Given the description of an element on the screen output the (x, y) to click on. 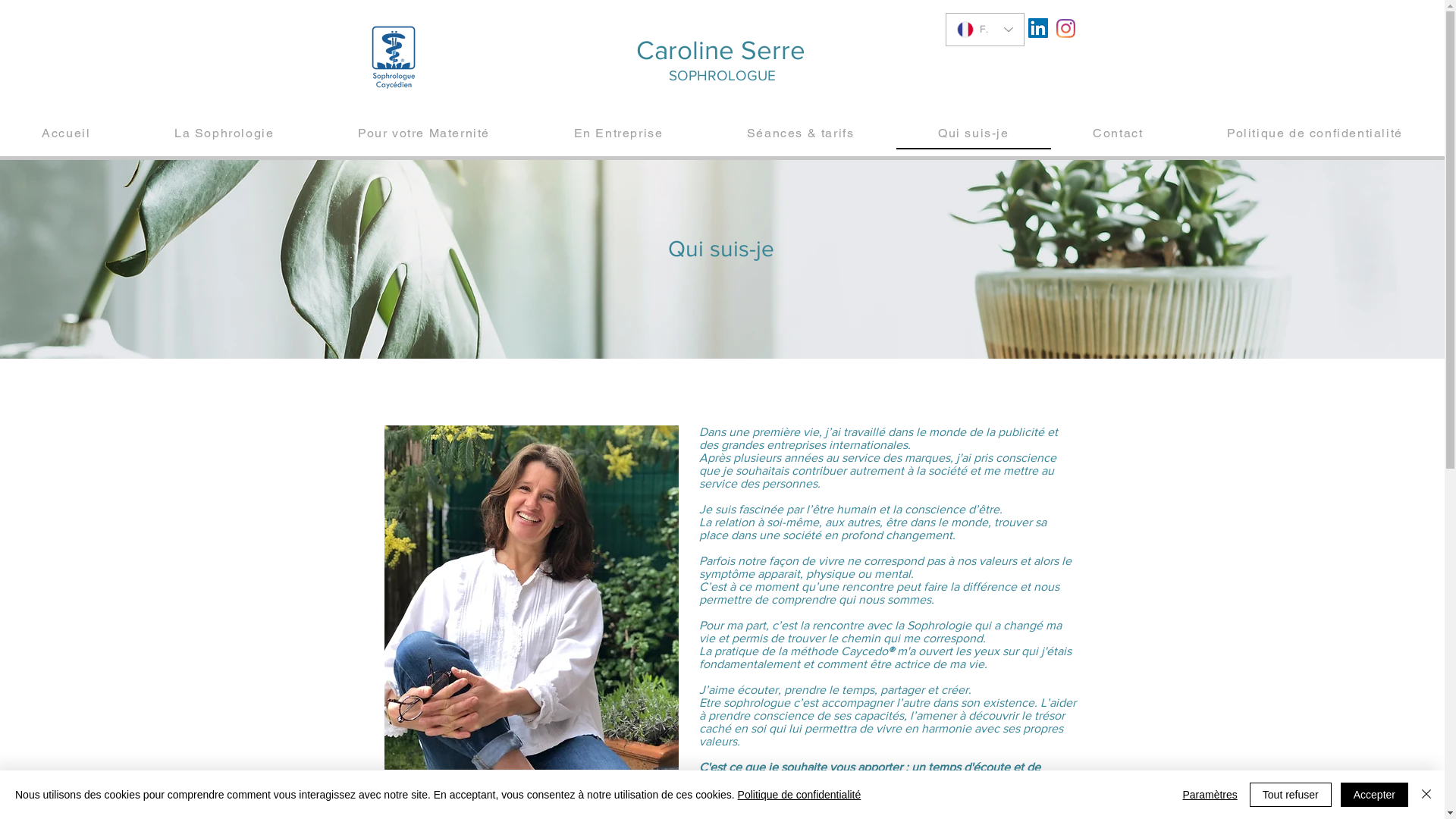
La Sophrologie Element type: text (224, 133)
Tout refuser Element type: text (1290, 794)
Qui suis-je Element type: text (973, 133)
Accueil Element type: text (66, 133)
Accepter Element type: text (1374, 794)
En Entreprise Element type: text (617, 133)
Contact Element type: text (1118, 133)
